Given the description of an element on the screen output the (x, y) to click on. 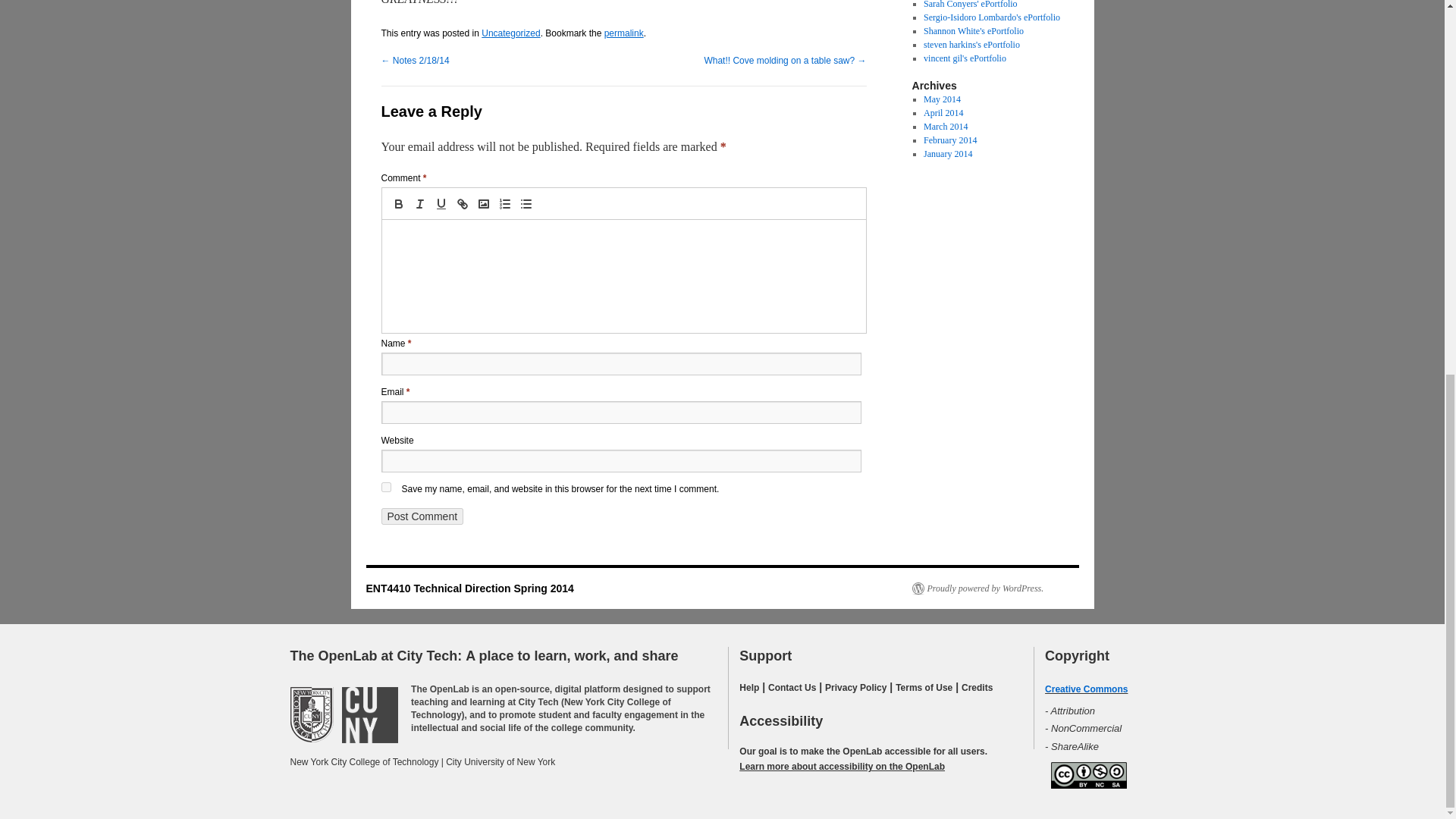
Semantic Personal Publishing Platform (977, 588)
Uncategorized (510, 32)
permalink (623, 32)
yes (385, 487)
Post Comment (421, 515)
